Given the description of an element on the screen output the (x, y) to click on. 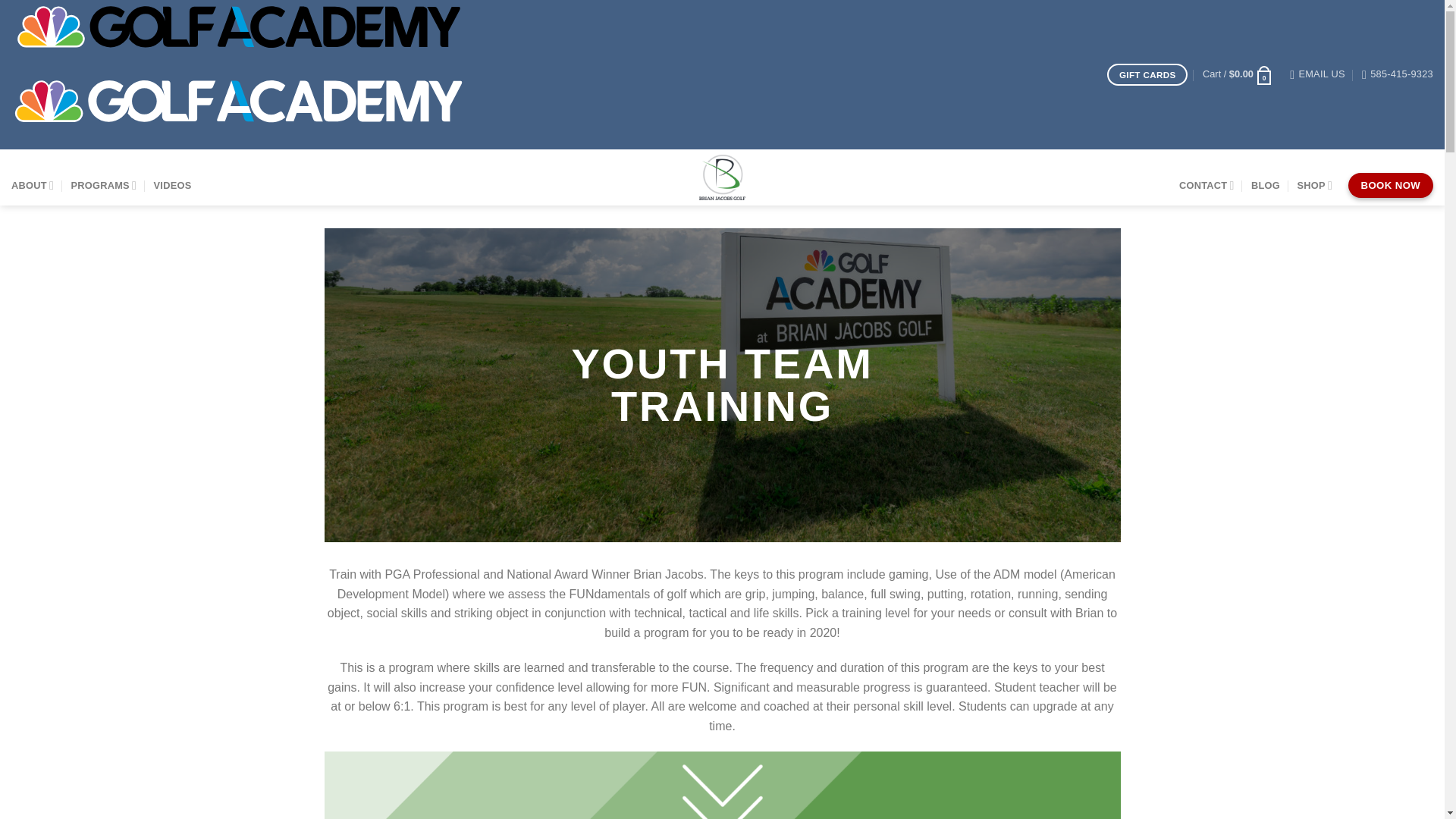
GIFT CARDS (1147, 74)
EMAIL US (1316, 74)
Brian Jacobs -  (721, 177)
BOOK NOW (1390, 185)
PROGRAMS (102, 185)
CONTACT (1206, 185)
Cart (1237, 74)
585-415-9323 (1396, 74)
